Given the description of an element on the screen output the (x, y) to click on. 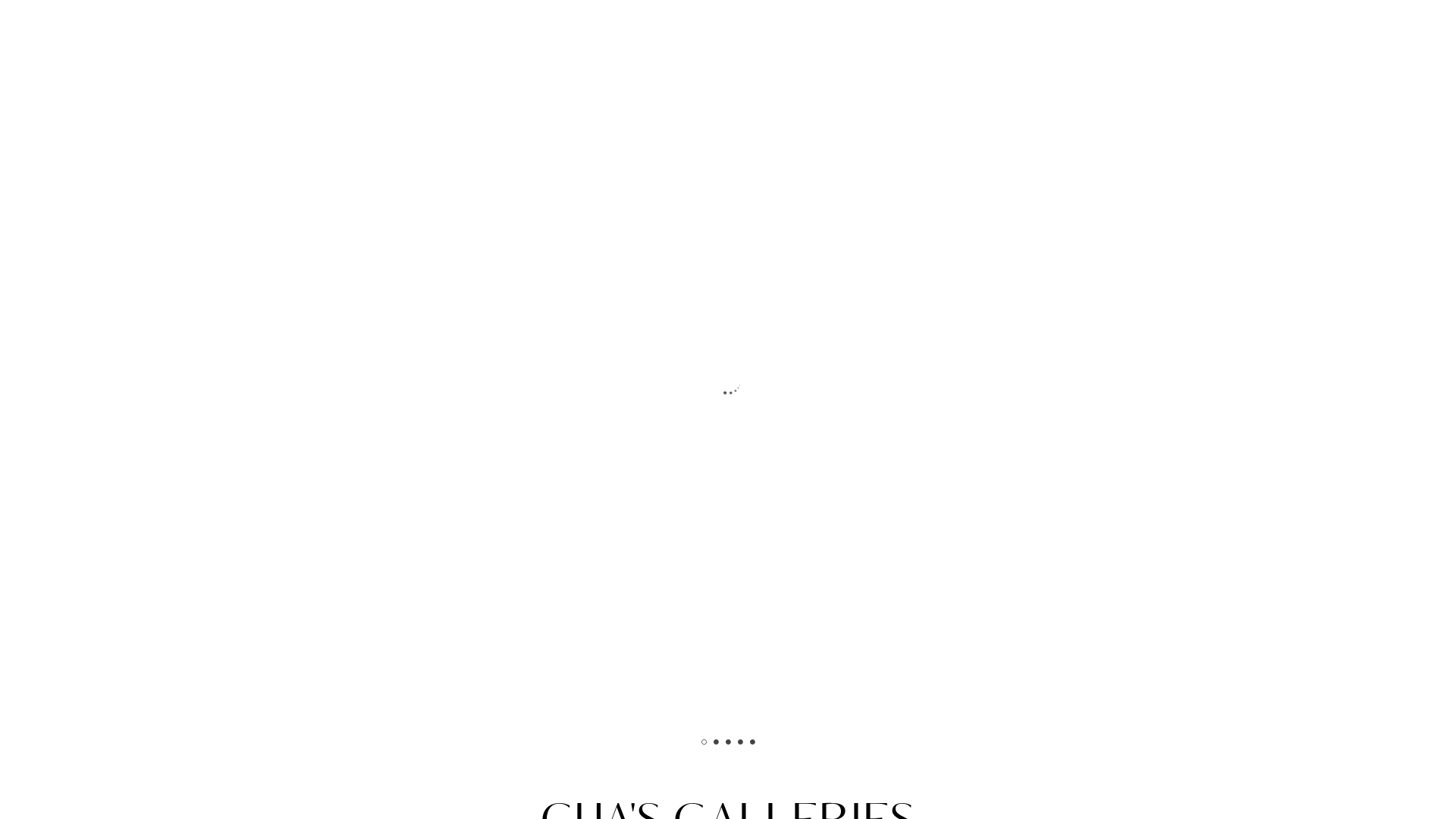
BLOG Element type: text (930, 125)
LOCATIONS Element type: text (1057, 125)
